Given the description of an element on the screen output the (x, y) to click on. 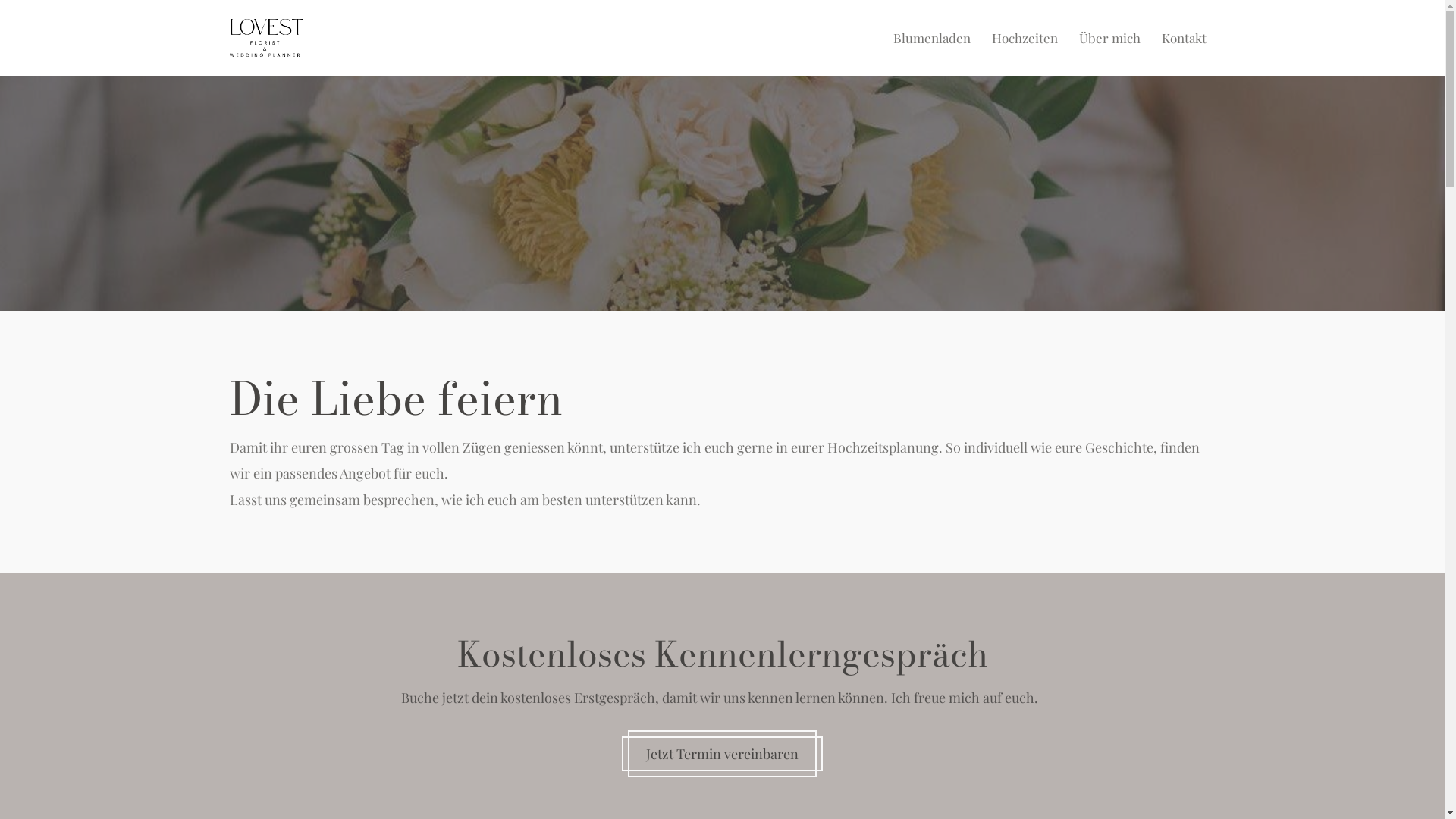
Hochzeiten Element type: text (1024, 37)
Blumenladen Element type: text (931, 37)
Jetzt Termin vereinbaren Element type: text (721, 753)
Kontakt Element type: text (1183, 37)
